Given the description of an element on the screen output the (x, y) to click on. 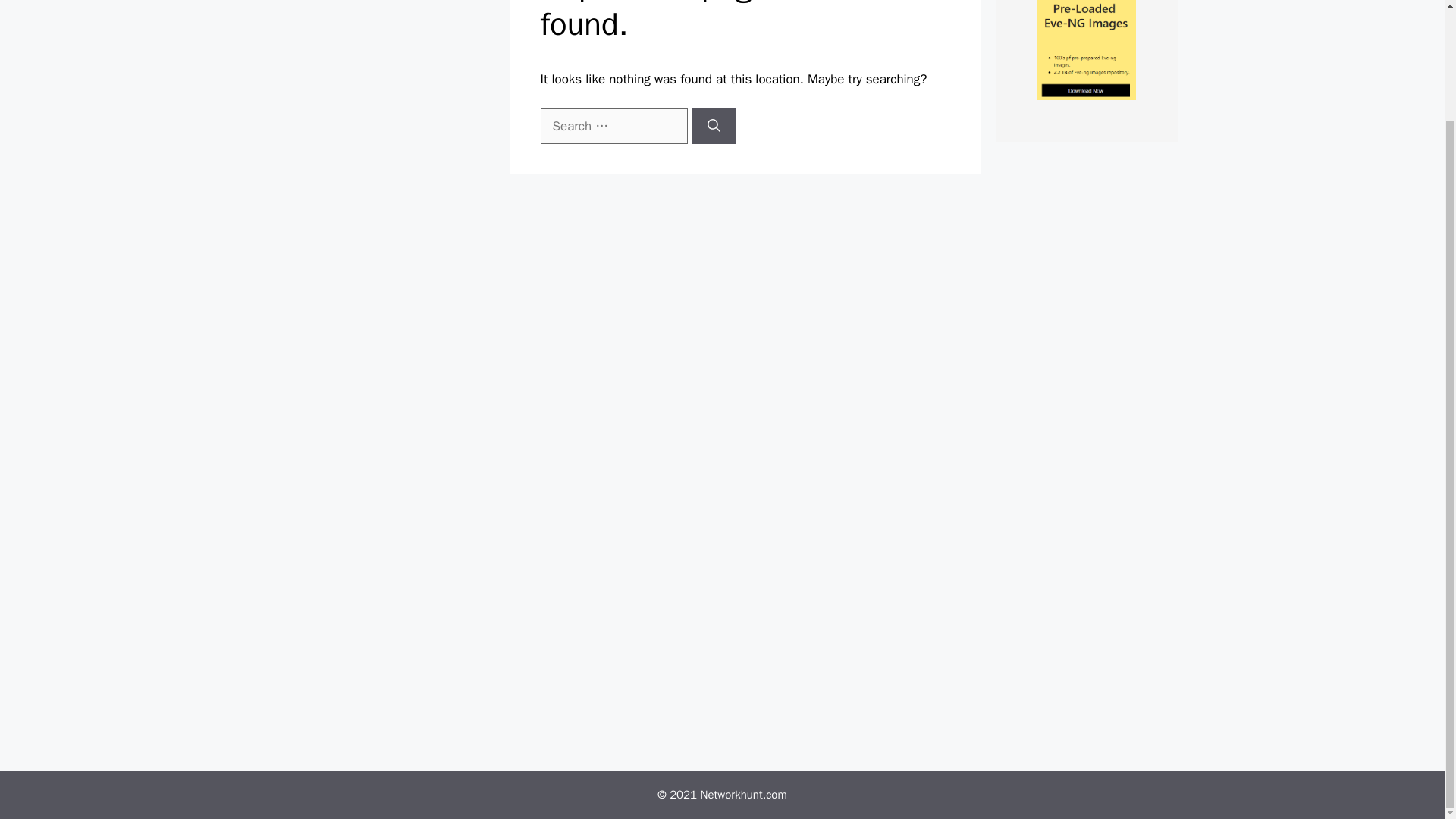
Search for: (613, 126)
